Given the description of an element on the screen output the (x, y) to click on. 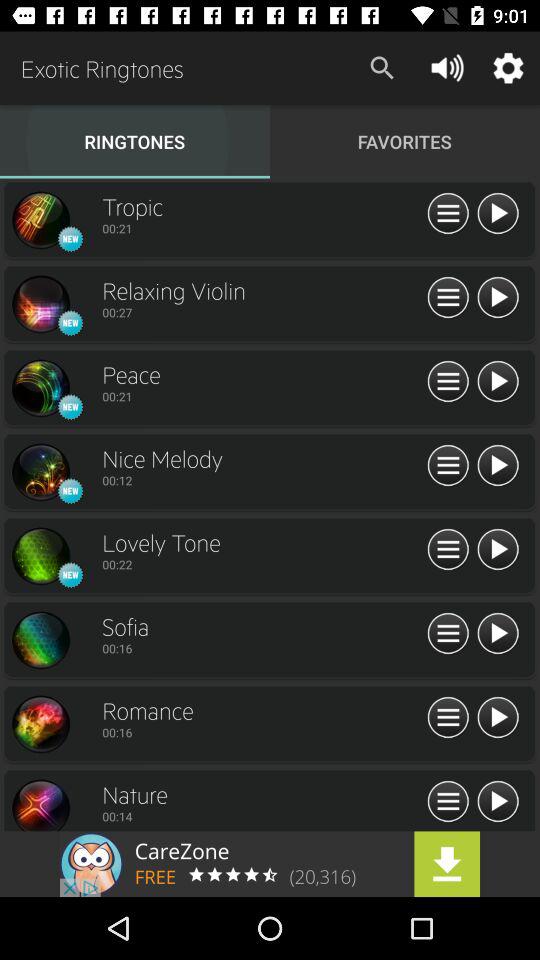
play track thats selected (497, 465)
